Given the description of an element on the screen output the (x, y) to click on. 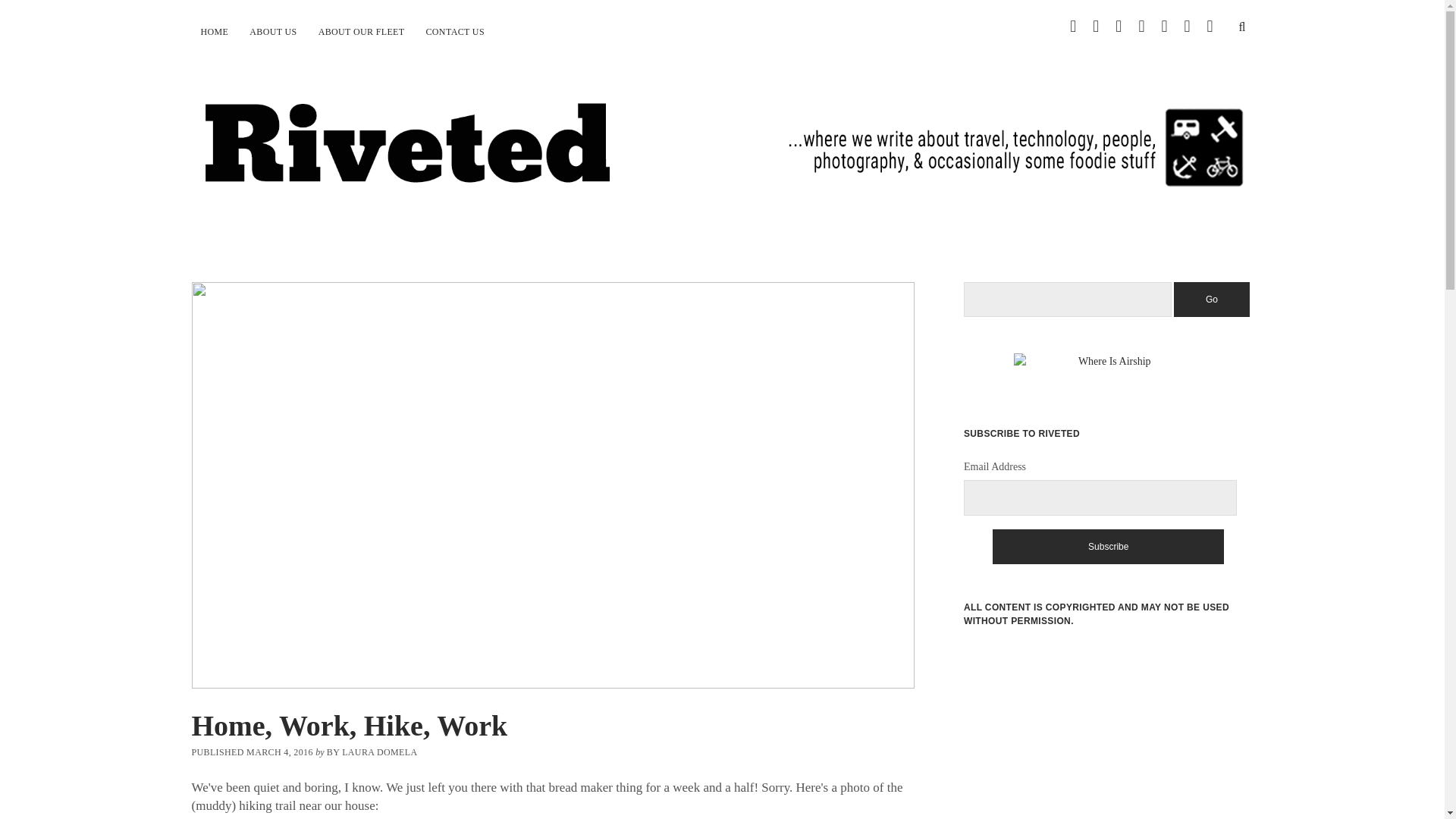
Subscribe (1108, 546)
HOME (213, 31)
Go (1211, 298)
CONTACT US (454, 31)
Go (1211, 298)
ABOUT US (272, 31)
Subscribe (1108, 546)
Search for: (1067, 299)
Riveted (721, 175)
ABOUT OUR FLEET (360, 31)
